Given the description of an element on the screen output the (x, y) to click on. 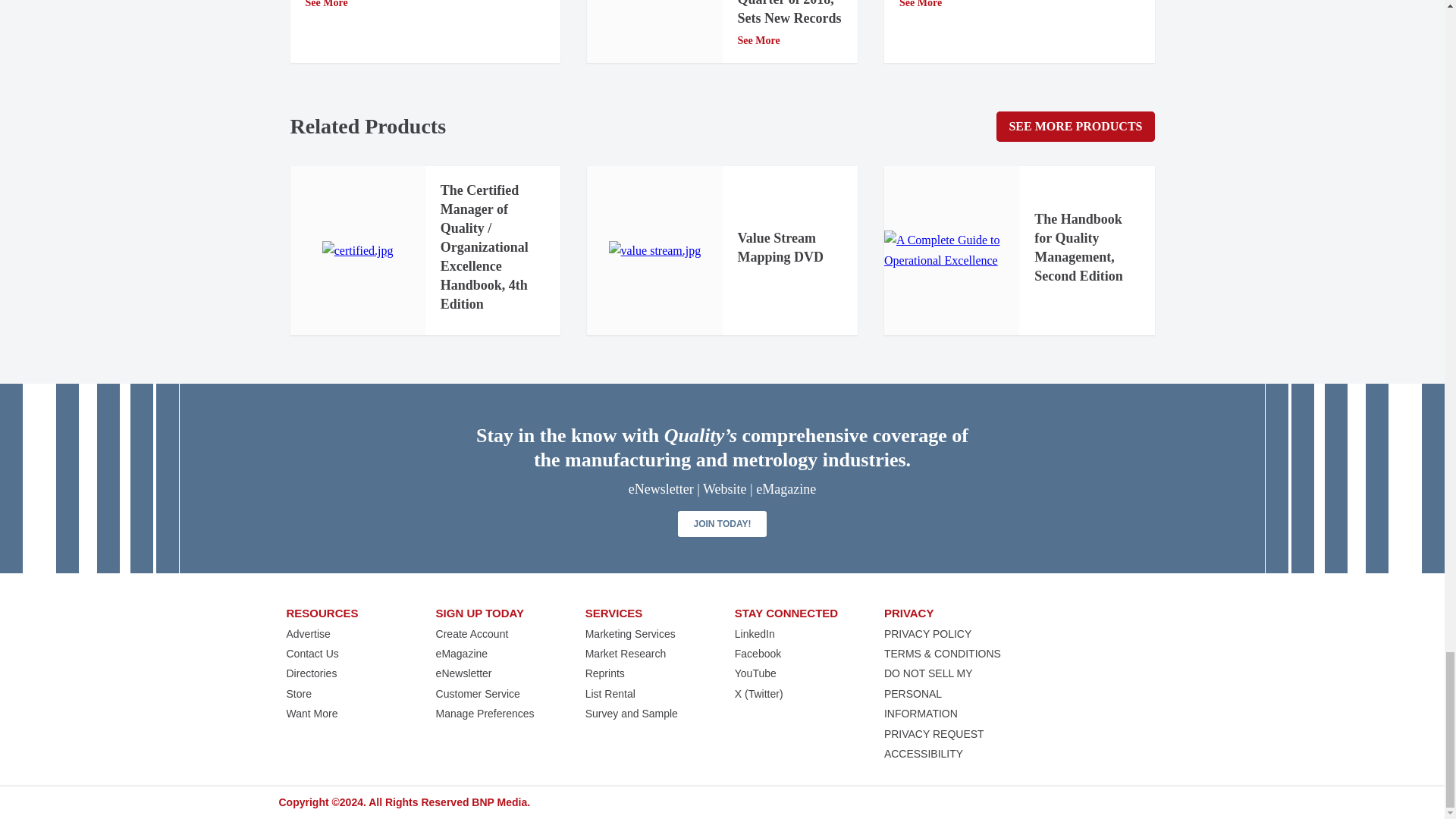
value stream.jpg (654, 250)
certified.jpg (357, 250)
A Complete Guide to Operational Excellence (951, 250)
